Given the description of an element on the screen output the (x, y) to click on. 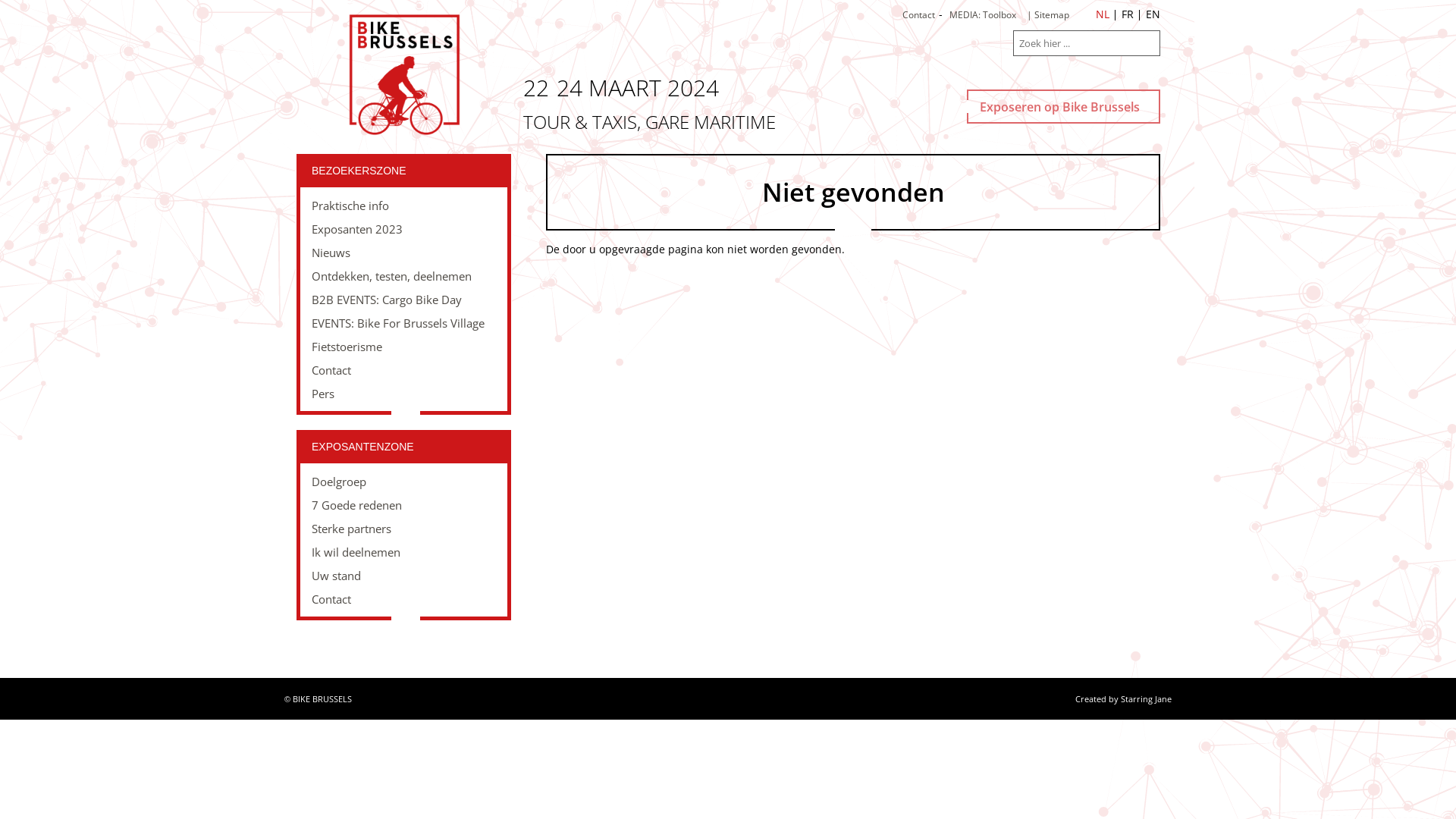
Pers Element type: text (403, 393)
MEDIA: Toolbox Element type: text (982, 14)
Praktische info Element type: text (403, 205)
Contact Element type: text (918, 14)
BIKE BRUSSELS Element type: text (403, 74)
Contact Element type: text (403, 599)
| Sitemap Element type: text (1047, 14)
Ik wil deelnemen Element type: text (403, 552)
Nieuws Element type: text (403, 252)
FR Element type: text (1127, 14)
Ontdekken, testen, deelnemen Element type: text (403, 276)
Contact Element type: text (403, 370)
Doelgroep Element type: text (403, 481)
7 Goede redenen Element type: text (403, 505)
BIKE BRUSSELS Element type: text (321, 698)
NL Element type: text (1102, 14)
Fietstoerisme Element type: text (403, 346)
Created by Starring Jane Element type: text (1123, 698)
Sterke partners Element type: text (403, 528)
EN Element type: text (1152, 14)
B2B EVENTS: Cargo Bike Day Element type: text (403, 299)
Exposanten 2023 Element type: text (403, 229)
Uw stand Element type: text (403, 575)
EVENTS: Bike For Brussels Village Element type: text (403, 323)
Exposeren op Bike Brussels Element type: text (1063, 106)
